Given the description of an element on the screen output the (x, y) to click on. 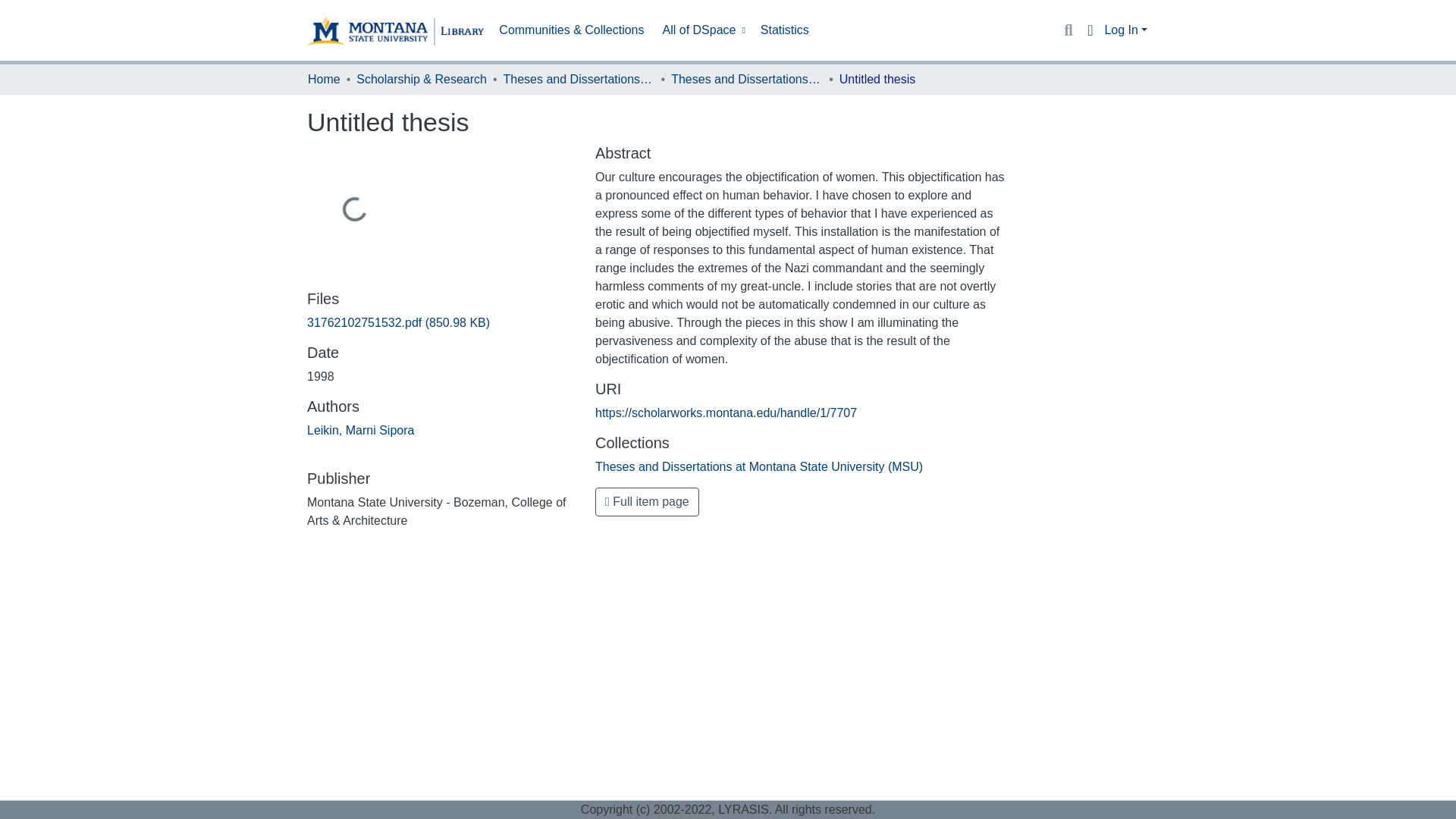
Log In (1125, 29)
Full item page (646, 501)
All of DSpace (702, 30)
Search (1067, 30)
Statistics (784, 30)
Language switch (1089, 30)
Leikin, Marni Sipora (360, 430)
Home (323, 79)
